Given the description of an element on the screen output the (x, y) to click on. 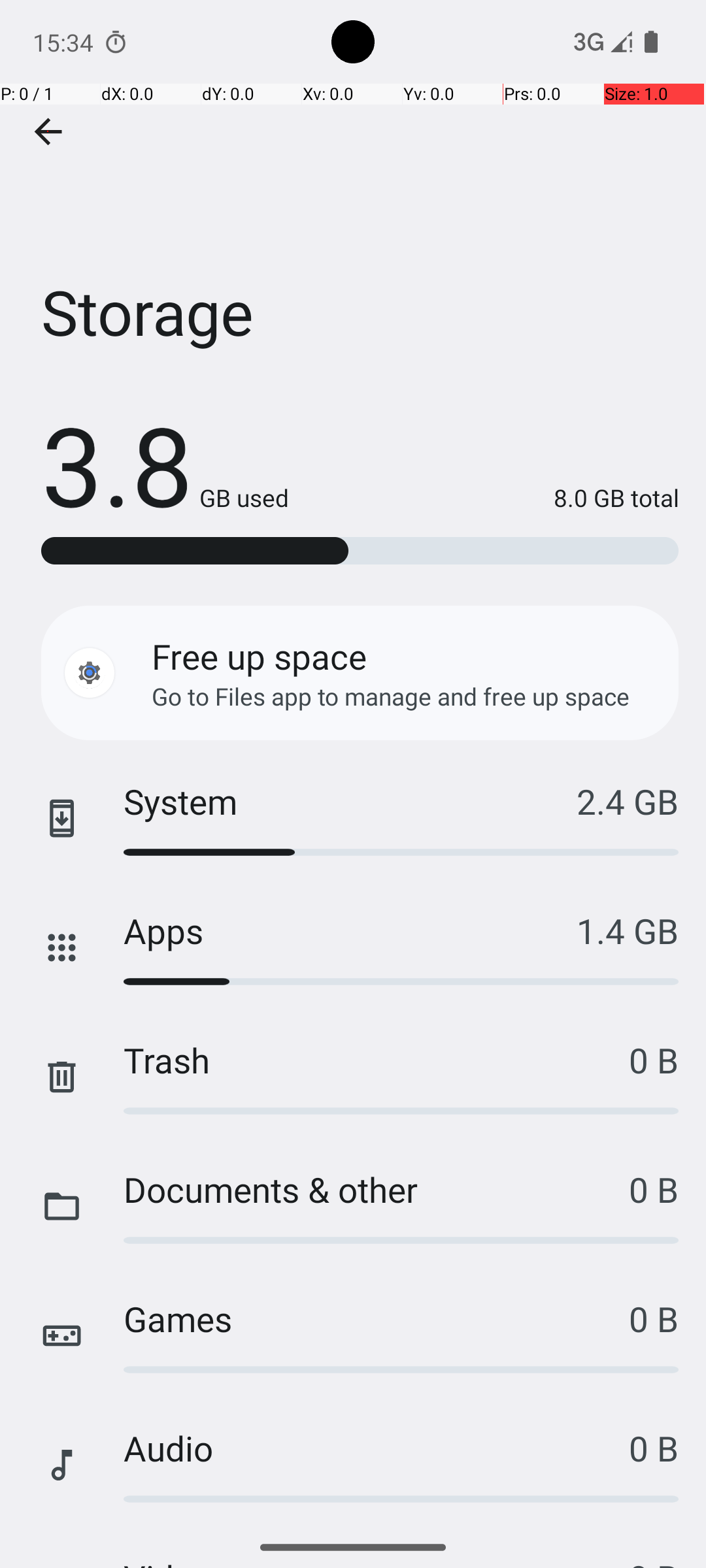
3.8 GB used Element type: android.widget.TextView (164, 463)
2.4 GB Element type: android.widget.TextView (627, 801)
